Given the description of an element on the screen output the (x, y) to click on. 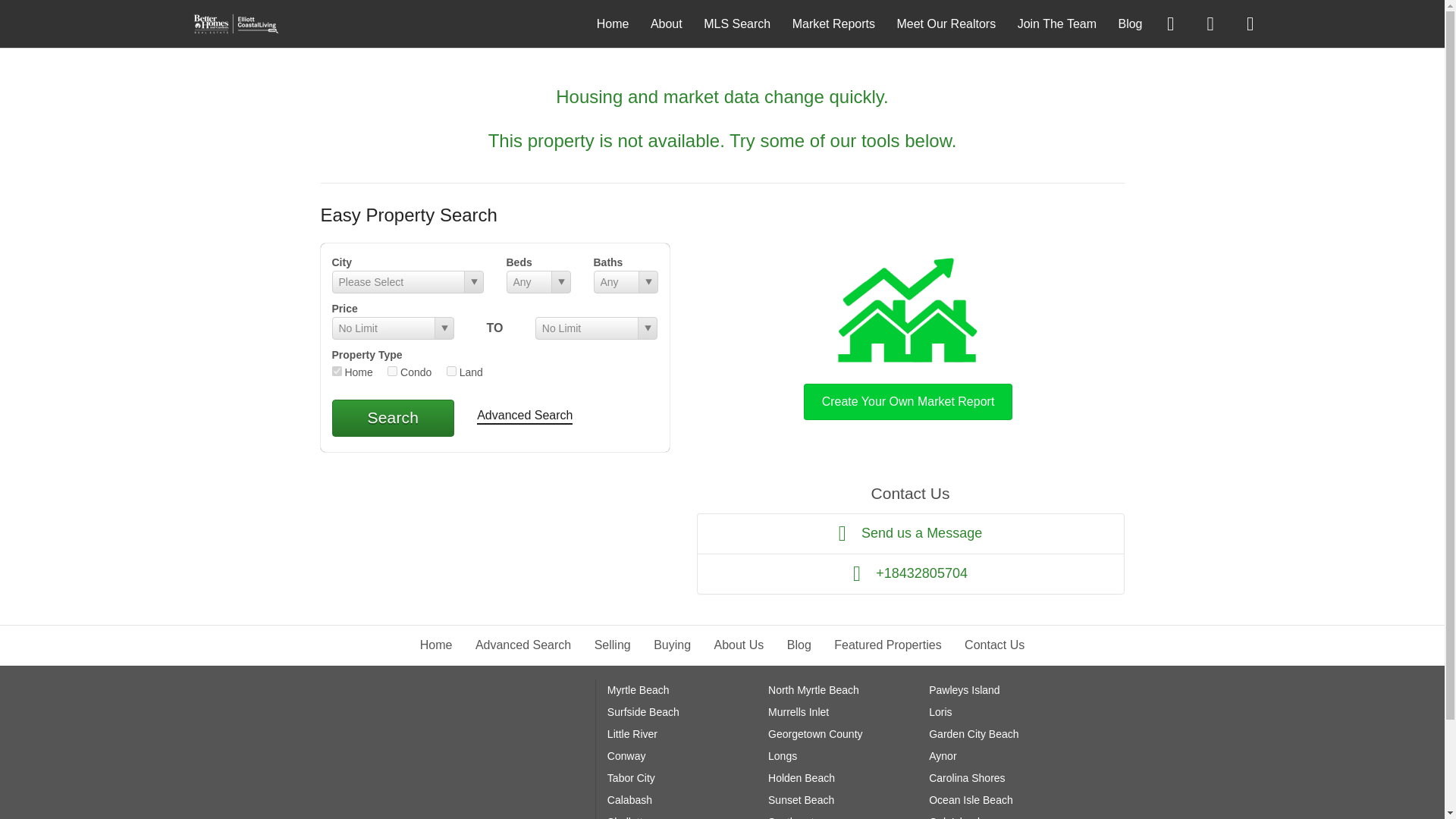
Home (612, 23)
Home (436, 644)
About Us (739, 644)
Search (392, 417)
Buying (671, 644)
lnd (451, 370)
Featured Properties (887, 644)
Meet Our Realtors (945, 23)
Blog (798, 644)
MLS Search (736, 23)
Market Reports (833, 23)
Contact Us (994, 644)
Surfside Beach (643, 711)
res (336, 370)
Blog (1129, 23)
